Given the description of an element on the screen output the (x, y) to click on. 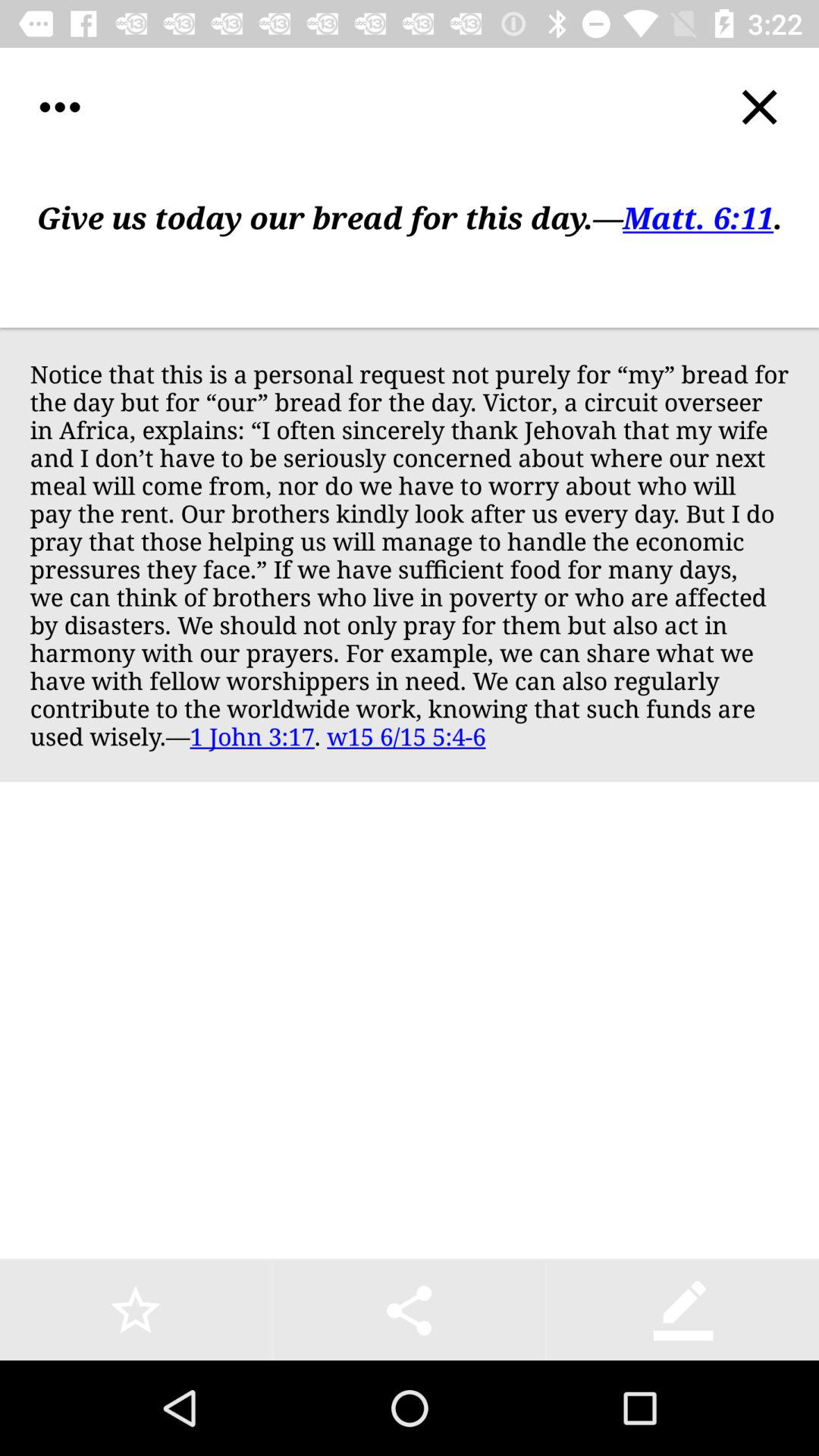
scroll until the give us today (409, 247)
